Given the description of an element on the screen output the (x, y) to click on. 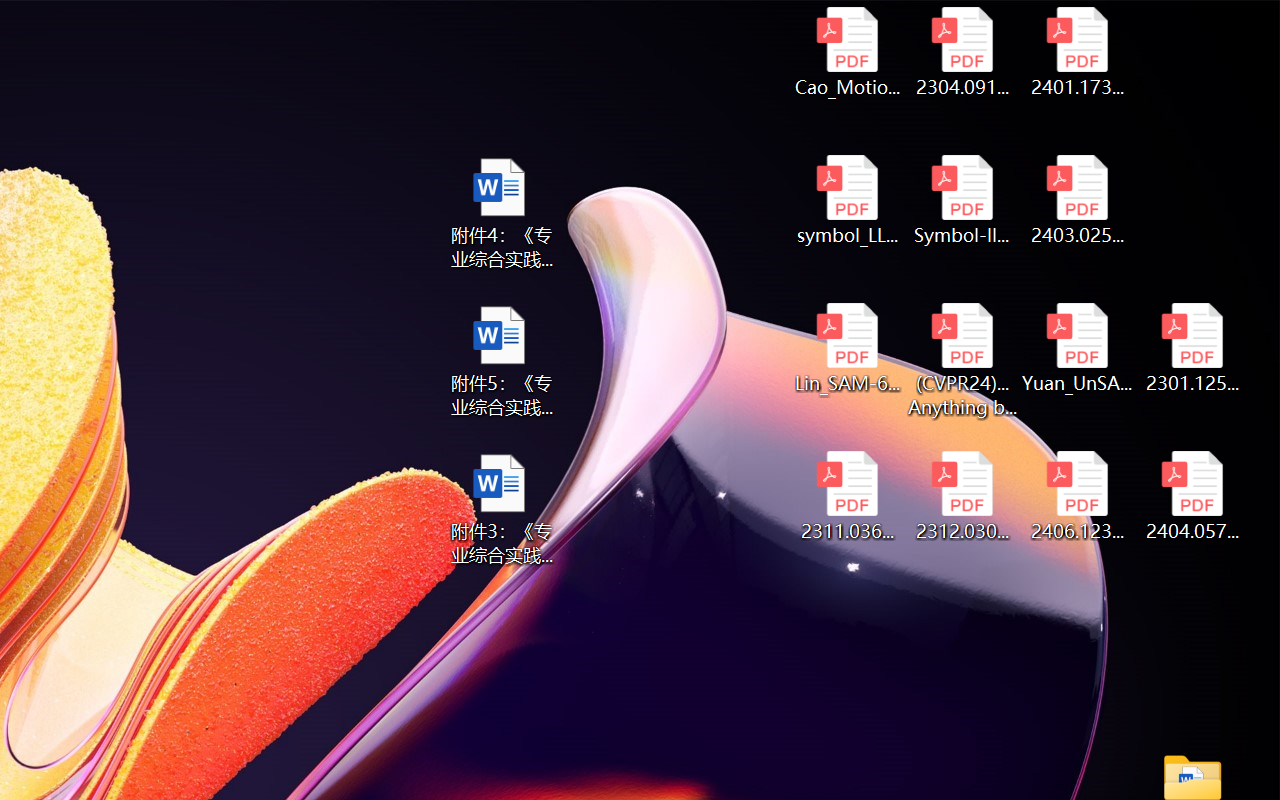
(CVPR24)Matching Anything by Segmenting Anything.pdf (962, 360)
